Given the description of an element on the screen output the (x, y) to click on. 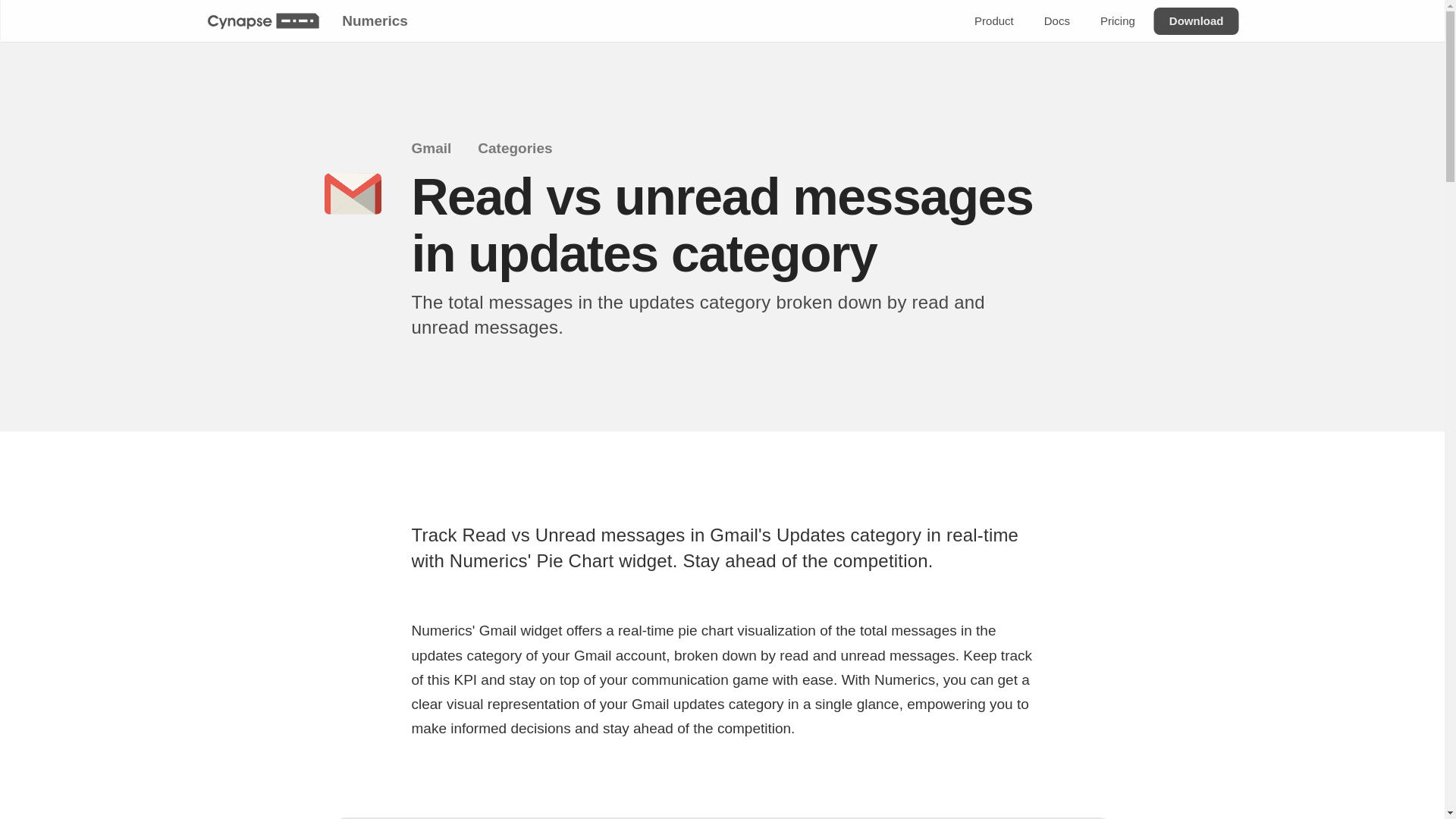
Pricing (1116, 21)
Product (993, 21)
Categories (523, 148)
Gmail (440, 148)
Docs (1056, 21)
Download (1196, 21)
Numerics (373, 20)
